Given the description of an element on the screen output the (x, y) to click on. 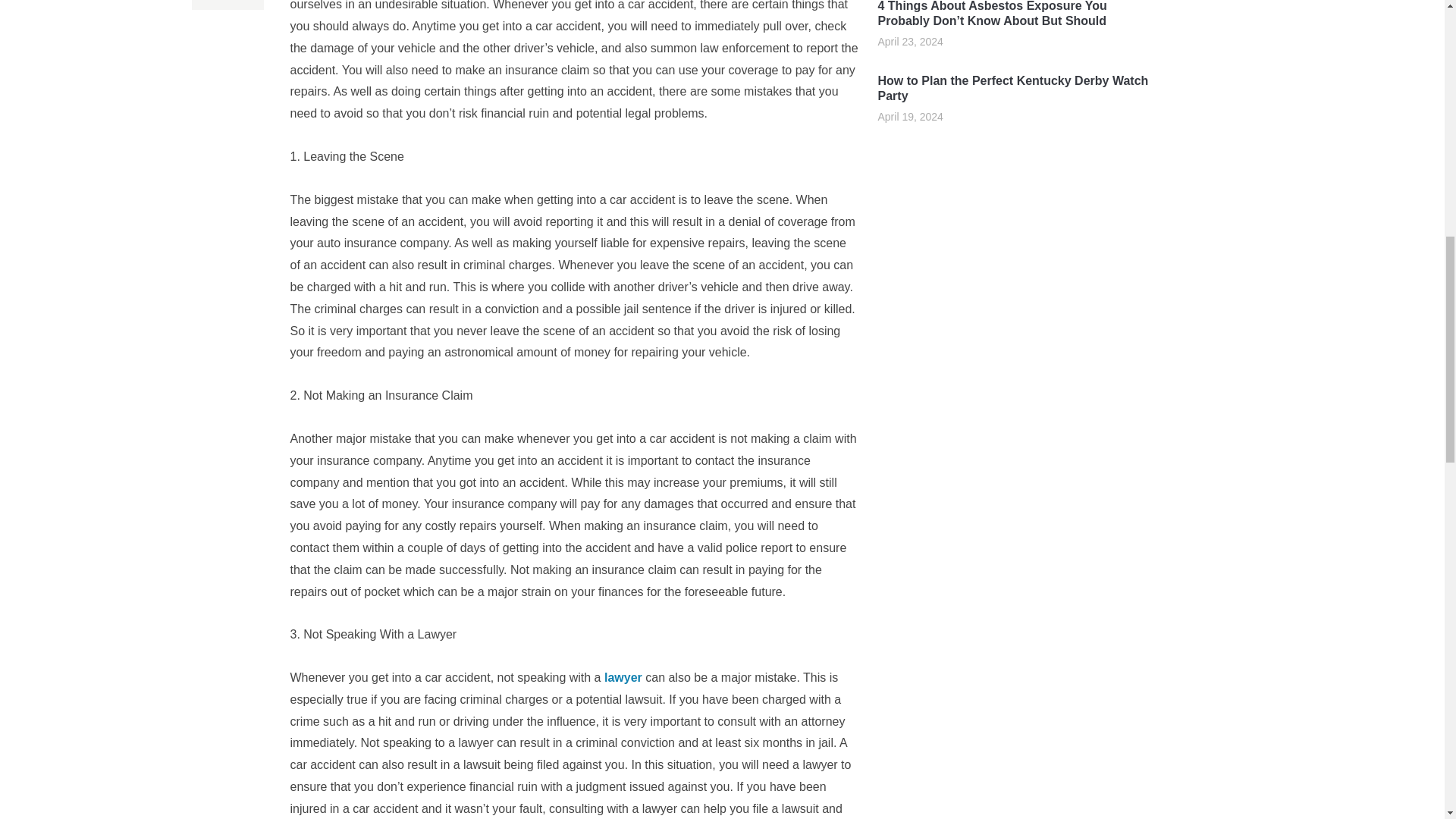
lawyer (623, 676)
